Given the description of an element on the screen output the (x, y) to click on. 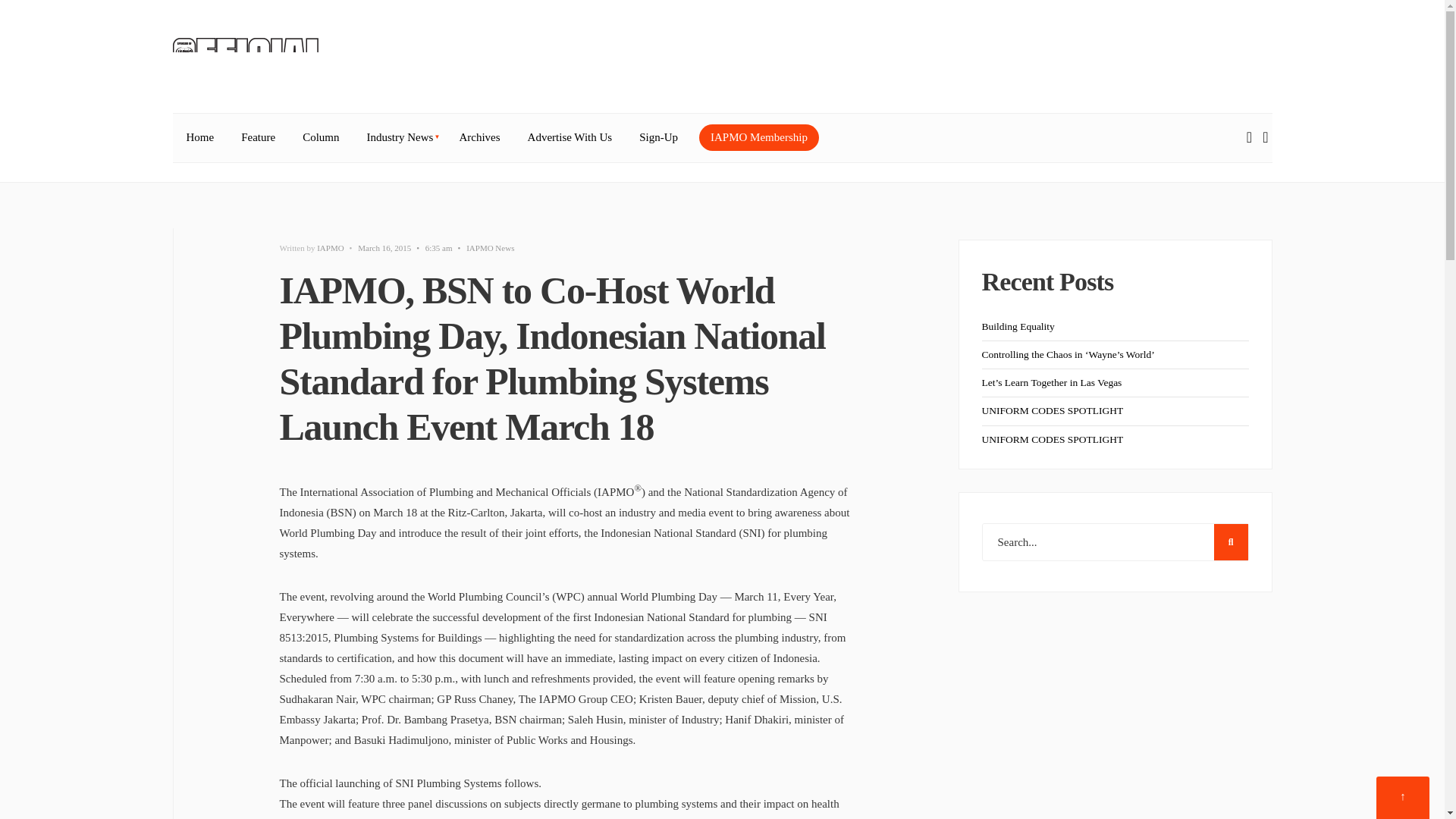
Column (320, 137)
Advertise With Us (569, 137)
Feature (257, 137)
Scroll to top (1402, 797)
Search... (1114, 542)
IAPMO Membership (758, 137)
Industry News (399, 137)
IAPMO News (489, 247)
Archives (479, 137)
Sign-Up (658, 137)
